Given the description of an element on the screen output the (x, y) to click on. 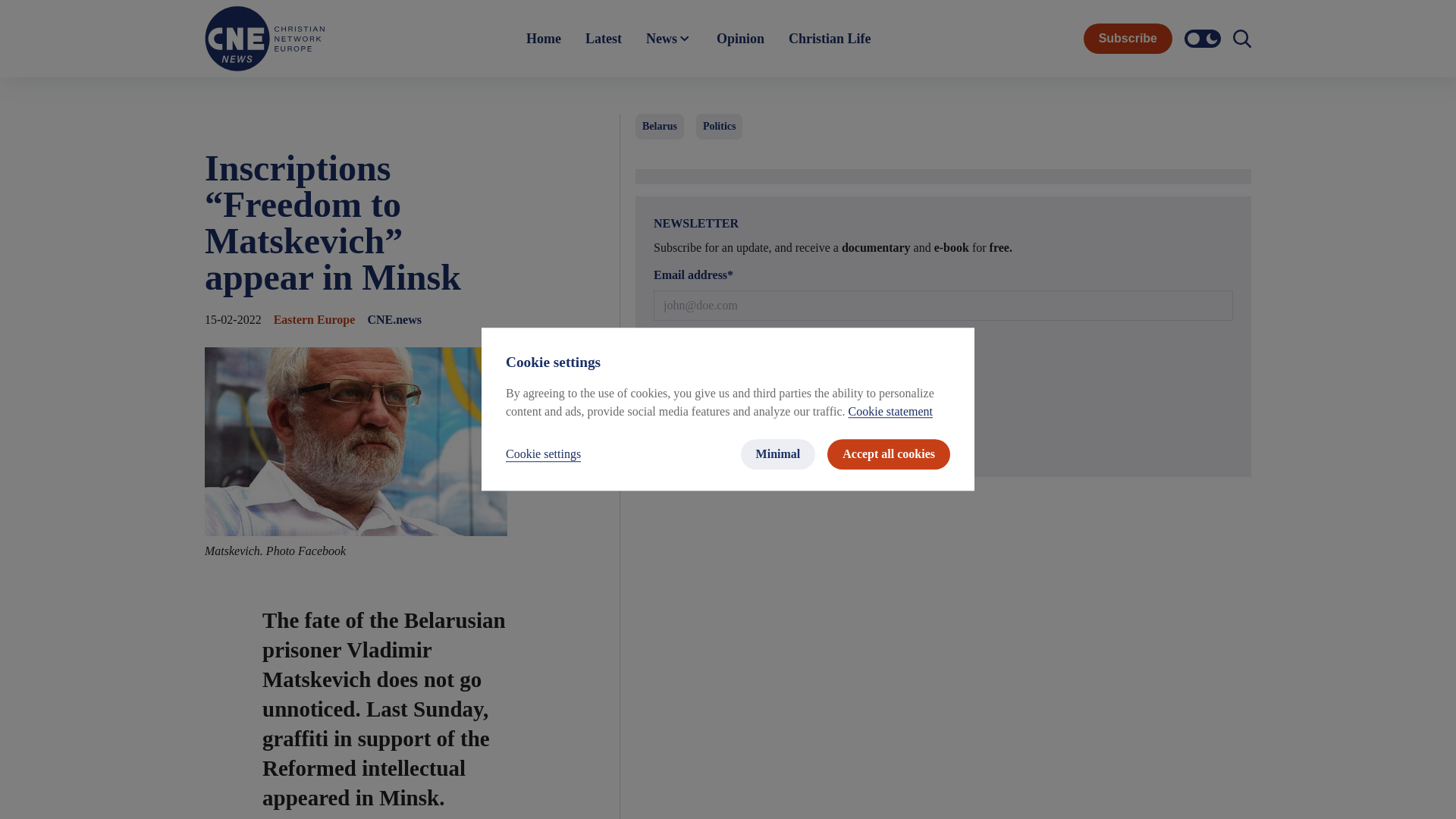
Politics (718, 126)
News (668, 38)
Cookie statement (890, 411)
Subscribe (1127, 38)
Home (543, 38)
Latest (603, 38)
Cookie settings (542, 454)
Accept all cookies (888, 454)
Minimal (778, 454)
Subscribe (943, 443)
